Given the description of an element on the screen output the (x, y) to click on. 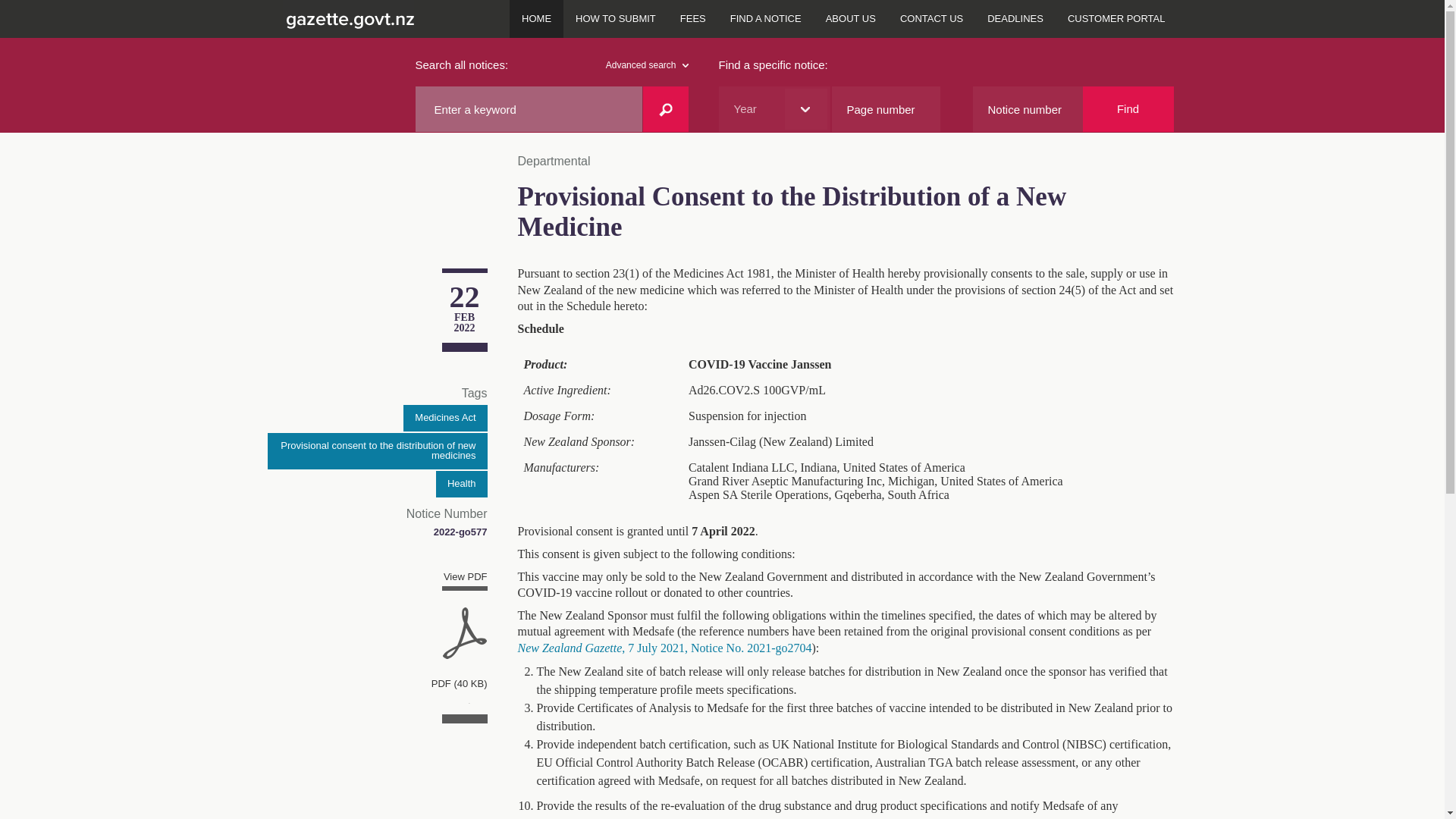
CUSTOMER PORTAL (1116, 18)
CONTACT US (931, 18)
Find (1128, 108)
Find (1128, 108)
Advanced search (646, 65)
ABOUT US (850, 18)
Health (461, 483)
Medicines Act (444, 417)
HOW TO SUBMIT (615, 18)
HOME (536, 18)
